Given the description of an element on the screen output the (x, y) to click on. 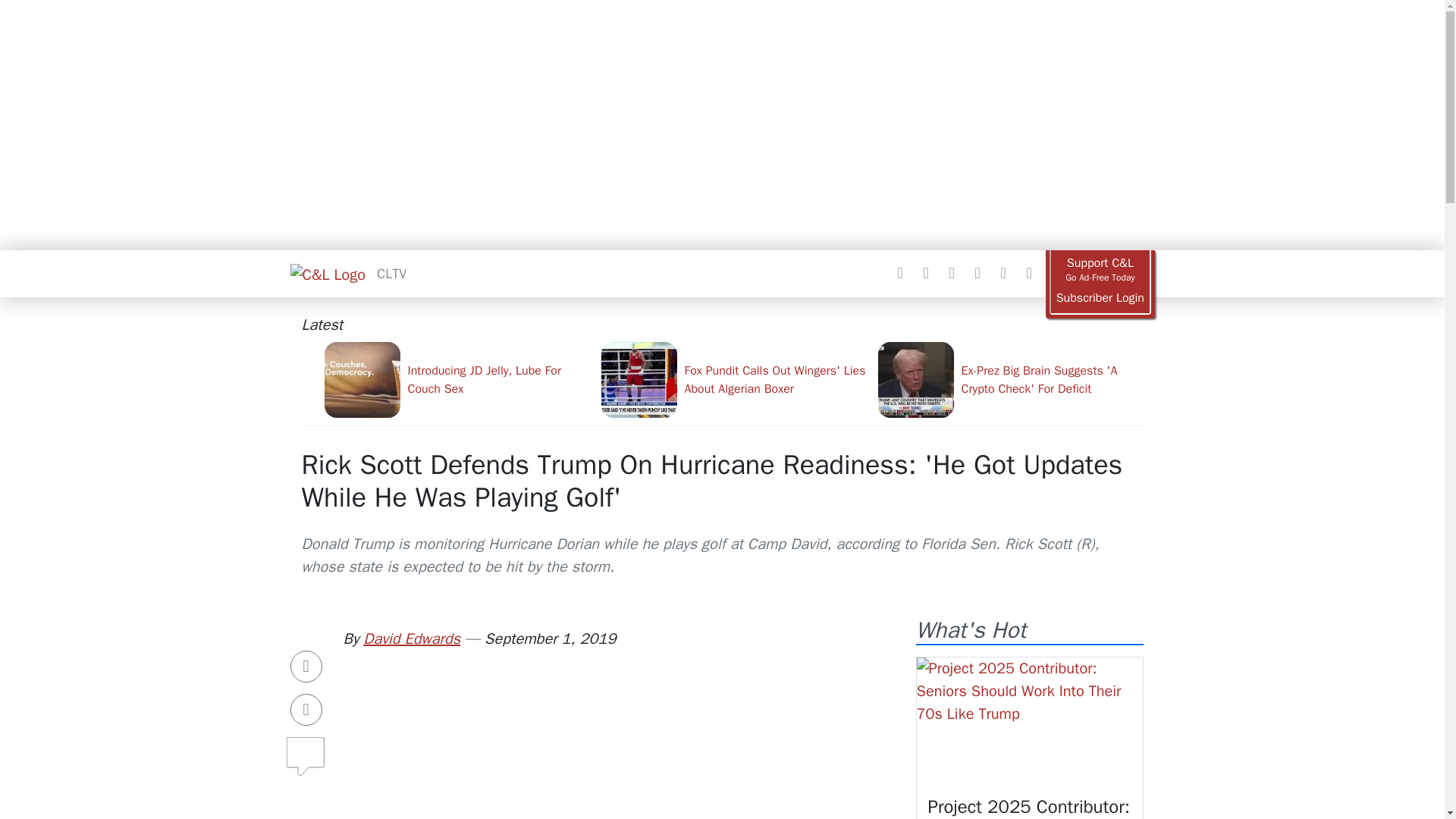
Share on Facebook (306, 666)
Fox Pundit Calls Out Wingers' Lies About Algerian Boxer (732, 379)
Login to your ad free account (1099, 298)
CLTV (391, 273)
David Edwards (411, 638)
Fox Pundit Calls Out Wingers' Lies About Algerian Boxer (732, 379)
Go ad free today! (1099, 270)
Share on Twitter (306, 709)
Introducing JD Jelly, Lube For Couch Sex (456, 379)
Introducing JD Jelly, Lube For Couch Sex (456, 379)
David Edwards (411, 638)
Ex-Prez Big Brain Suggests 'A Crypto Check' For Deficit (1009, 379)
Subscriber Login (1099, 298)
Comments (306, 750)
